Given the description of an element on the screen output the (x, y) to click on. 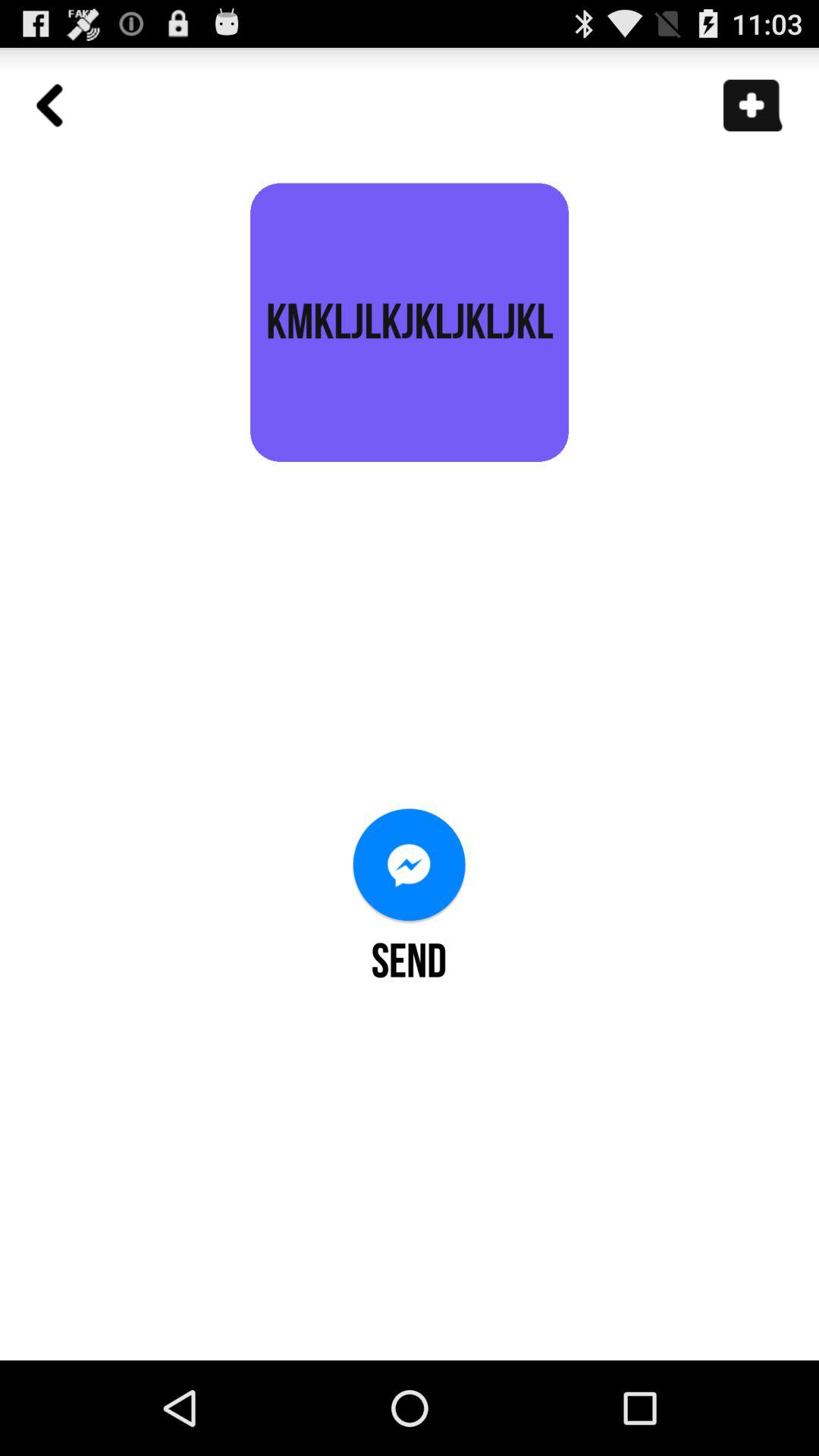
go back (57, 113)
